Given the description of an element on the screen output the (x, y) to click on. 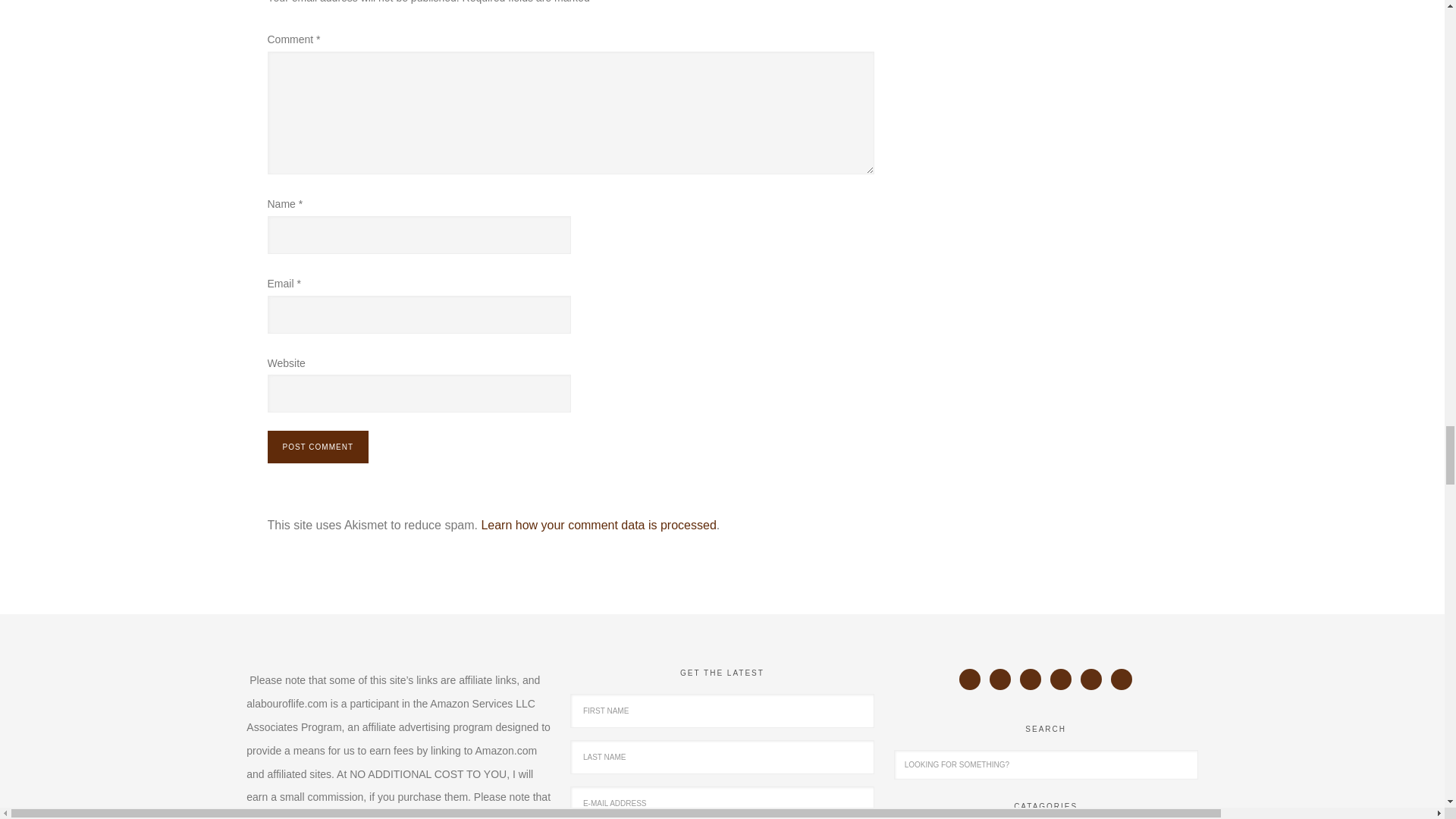
Post Comment (317, 446)
